Given the description of an element on the screen output the (x, y) to click on. 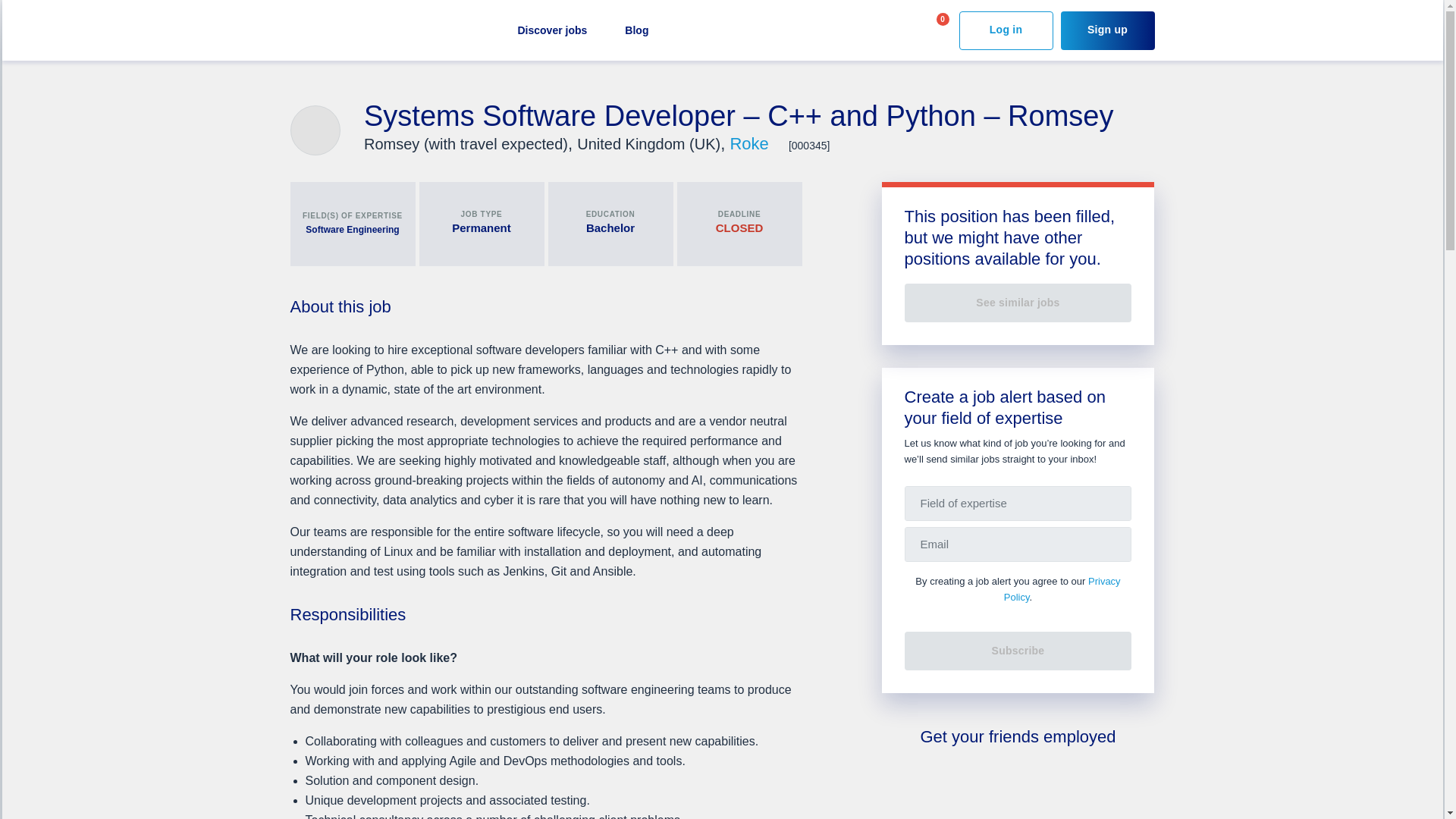
Sign up (1106, 29)
Discover jobs (551, 30)
See similar jobs (1017, 302)
Log in (1005, 29)
Privacy Policy (1062, 588)
Roke (751, 143)
Subscribe (1017, 650)
